Given the description of an element on the screen output the (x, y) to click on. 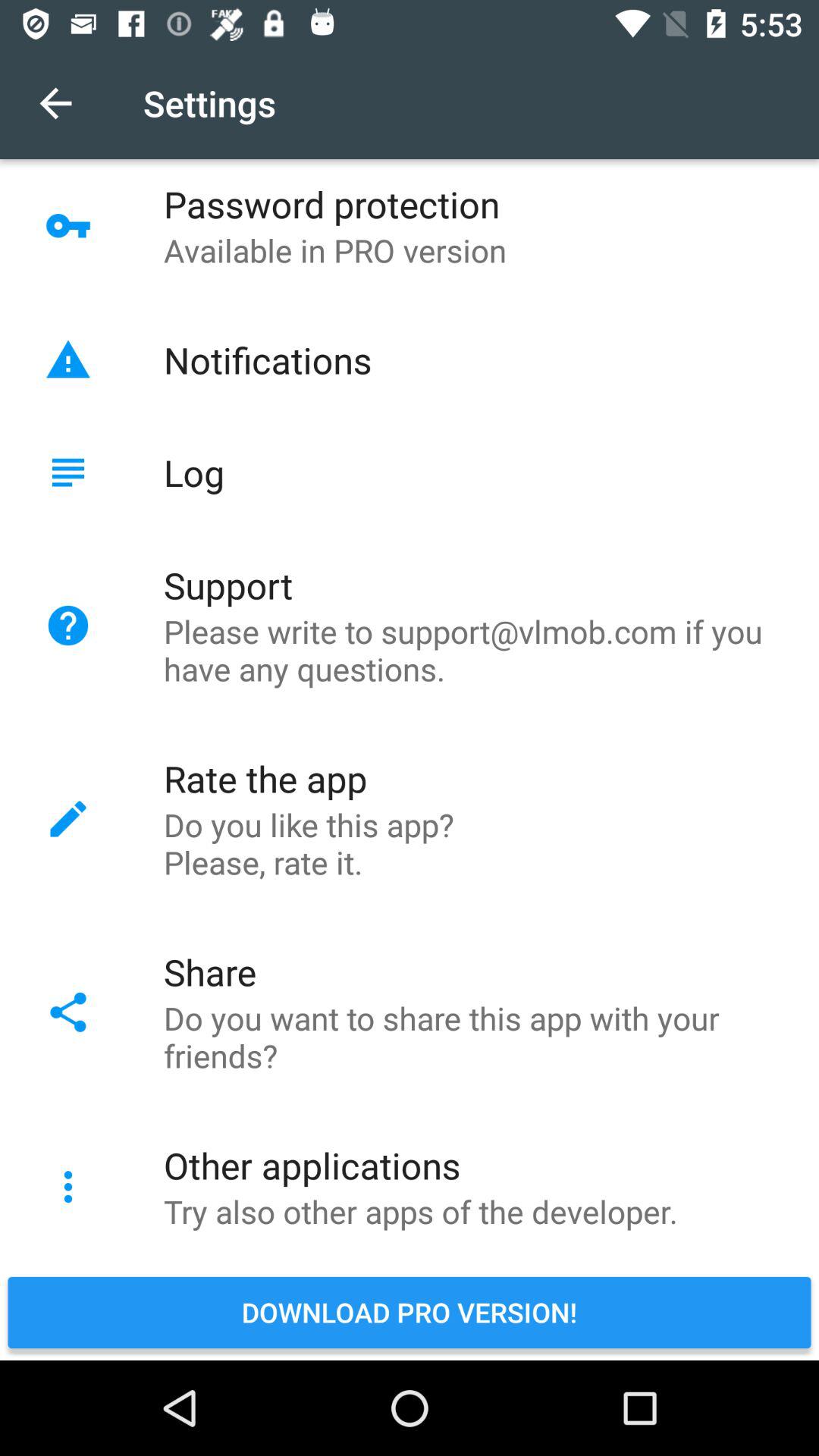
select item to the left of settings icon (55, 103)
